Given the description of an element on the screen output the (x, y) to click on. 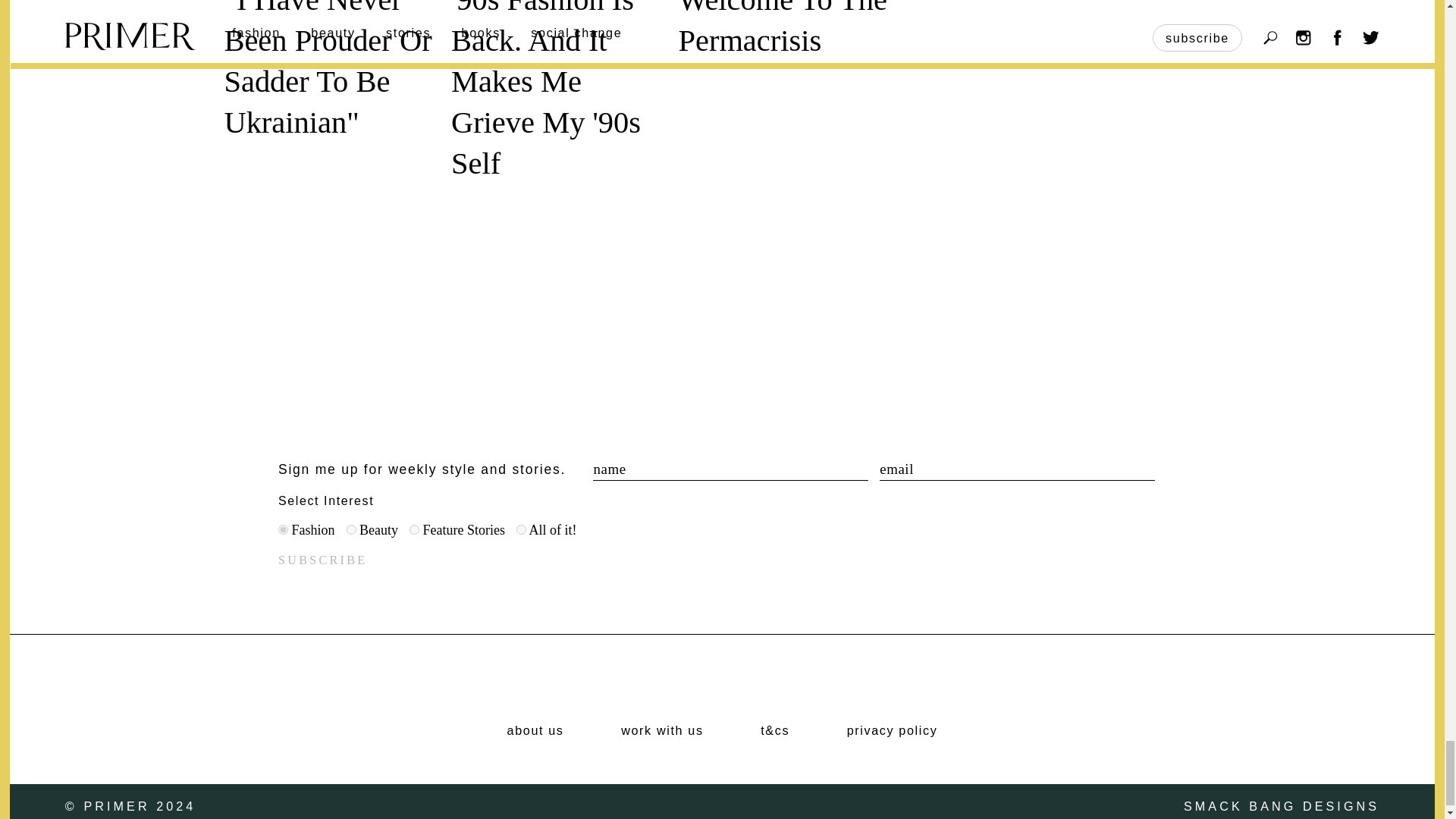
about us (535, 730)
Feature Stories (414, 529)
'90s Fashion Is Back. And It Makes Me Grieve My '90s Self (545, 90)
work with us (662, 730)
Subscribe (322, 560)
"I Have Never Been Prouder Or Sadder To Be Ukrainian" (327, 69)
Welcome To The Permacrisis (782, 28)
Fashion (283, 529)
All of it! (520, 529)
Subscribe (322, 560)
Beauty (350, 529)
